Given the description of an element on the screen output the (x, y) to click on. 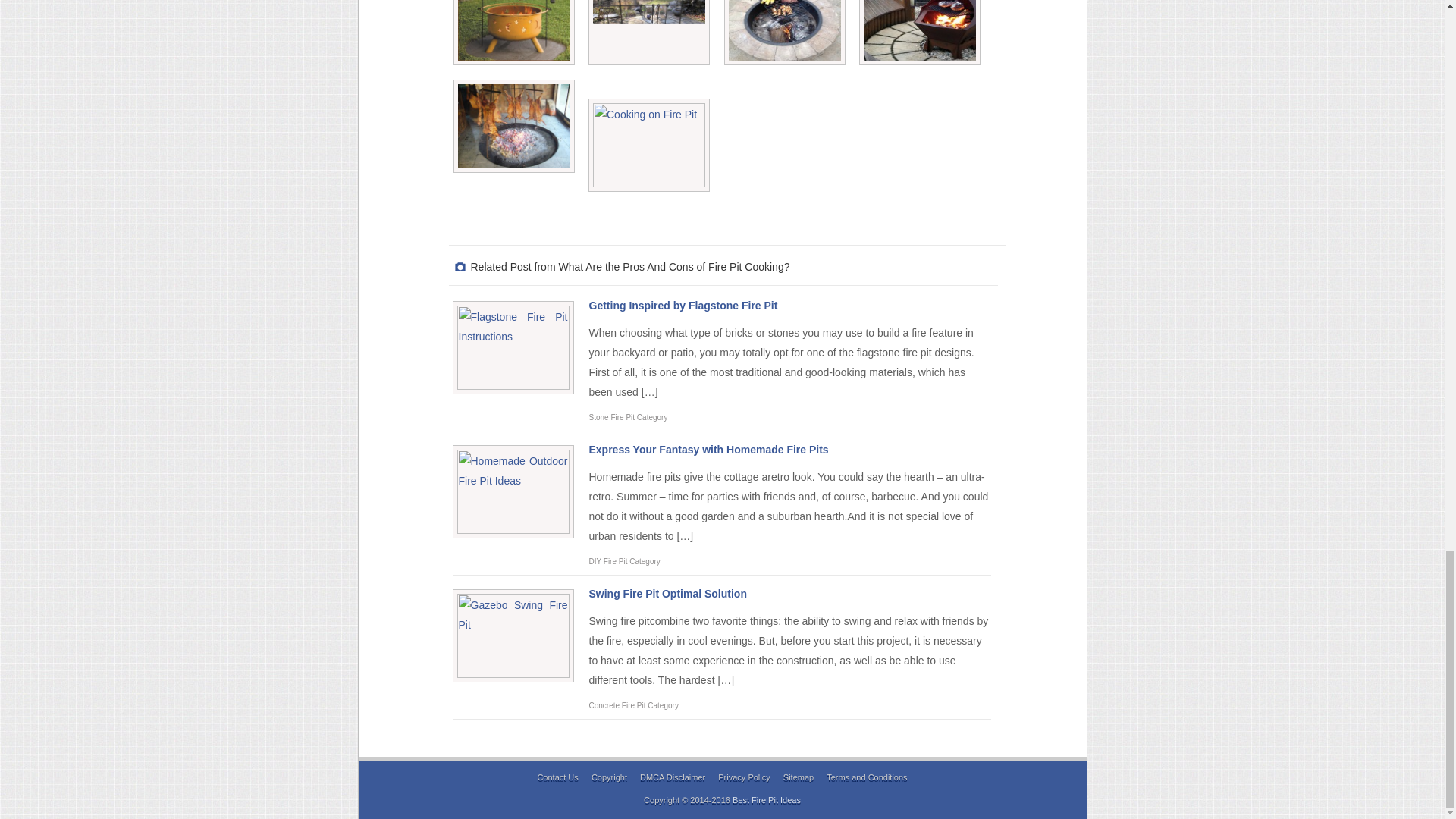
Express Your Fantasy with Homemade Fire Pits (708, 449)
Swing Fire Pit Optimal Solution (666, 593)
Getting Inspired by Flagstone Fire Pit (682, 305)
DMCA Disclaimer (672, 777)
Contact Us (557, 777)
Express Your Fantasy with Homemade Fire Pits (708, 449)
Swing Fire Pit Optimal Solution (666, 593)
Getting Inspired by Flagstone Fire Pit (682, 305)
Copyright (609, 777)
